Given the description of an element on the screen output the (x, y) to click on. 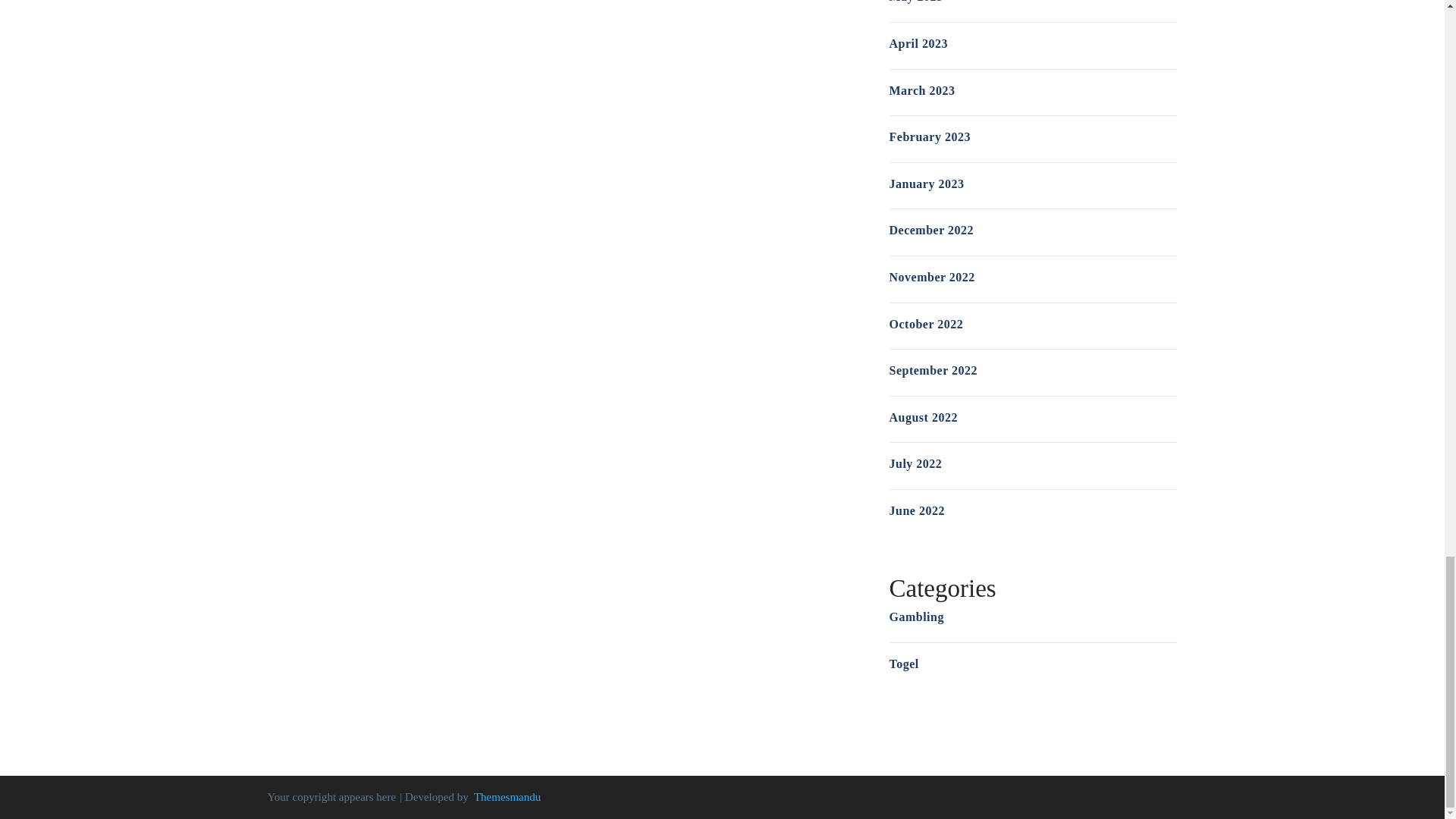
March 2023 (921, 90)
September 2022 (932, 369)
February 2023 (928, 136)
December 2022 (931, 229)
November 2022 (931, 277)
May 2023 (915, 1)
October 2022 (925, 323)
January 2023 (925, 183)
April 2023 (917, 42)
